Given the description of an element on the screen output the (x, y) to click on. 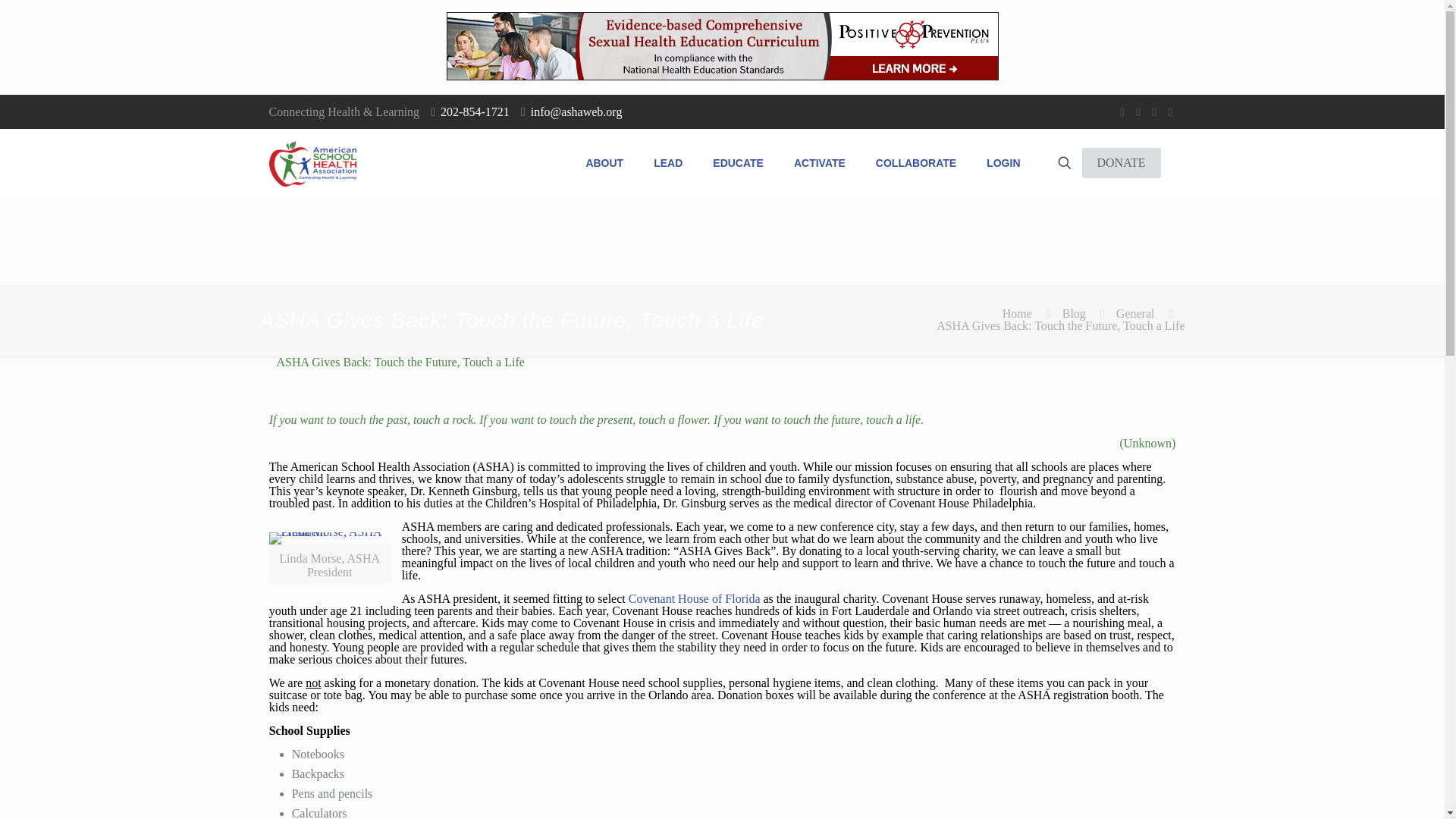
YouTube (1153, 111)
ACTIVATE (819, 162)
EDUCATE (737, 162)
LinkedIn (1170, 111)
Facebook (1121, 111)
202-854-1721 (475, 111)
ASHA (311, 162)
ABOUT (604, 162)
